Given the description of an element on the screen output the (x, y) to click on. 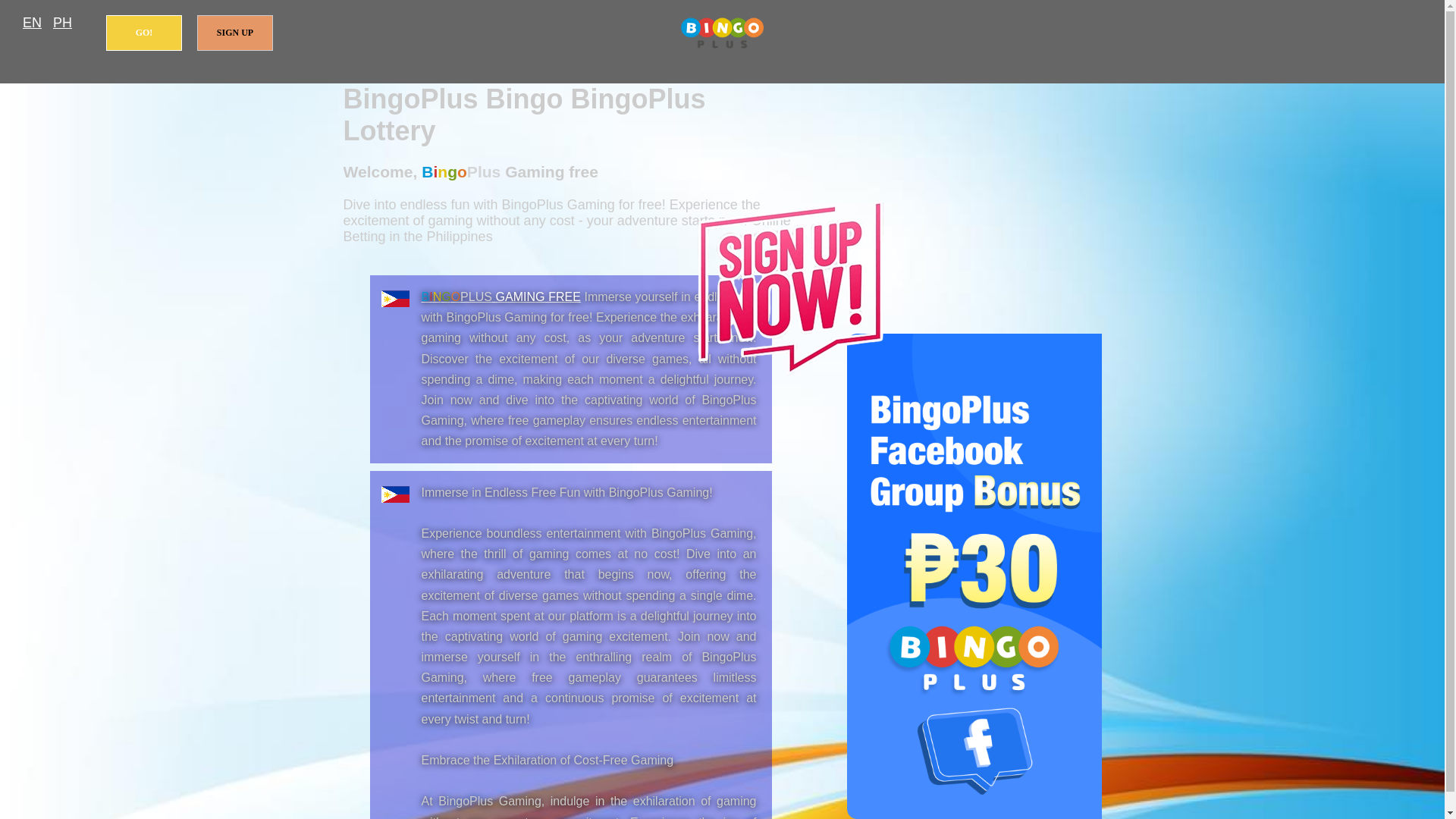
English - Filipino (32, 23)
BingoPlus Gaming free (501, 296)
PH (61, 23)
GO! (144, 32)
EN (32, 23)
BINGOPLUS GAMING FREE (501, 296)
SIGN UP (234, 32)
BingoPlus Gaming free (721, 32)
Pilipinas - Filipino (61, 23)
